Given the description of an element on the screen output the (x, y) to click on. 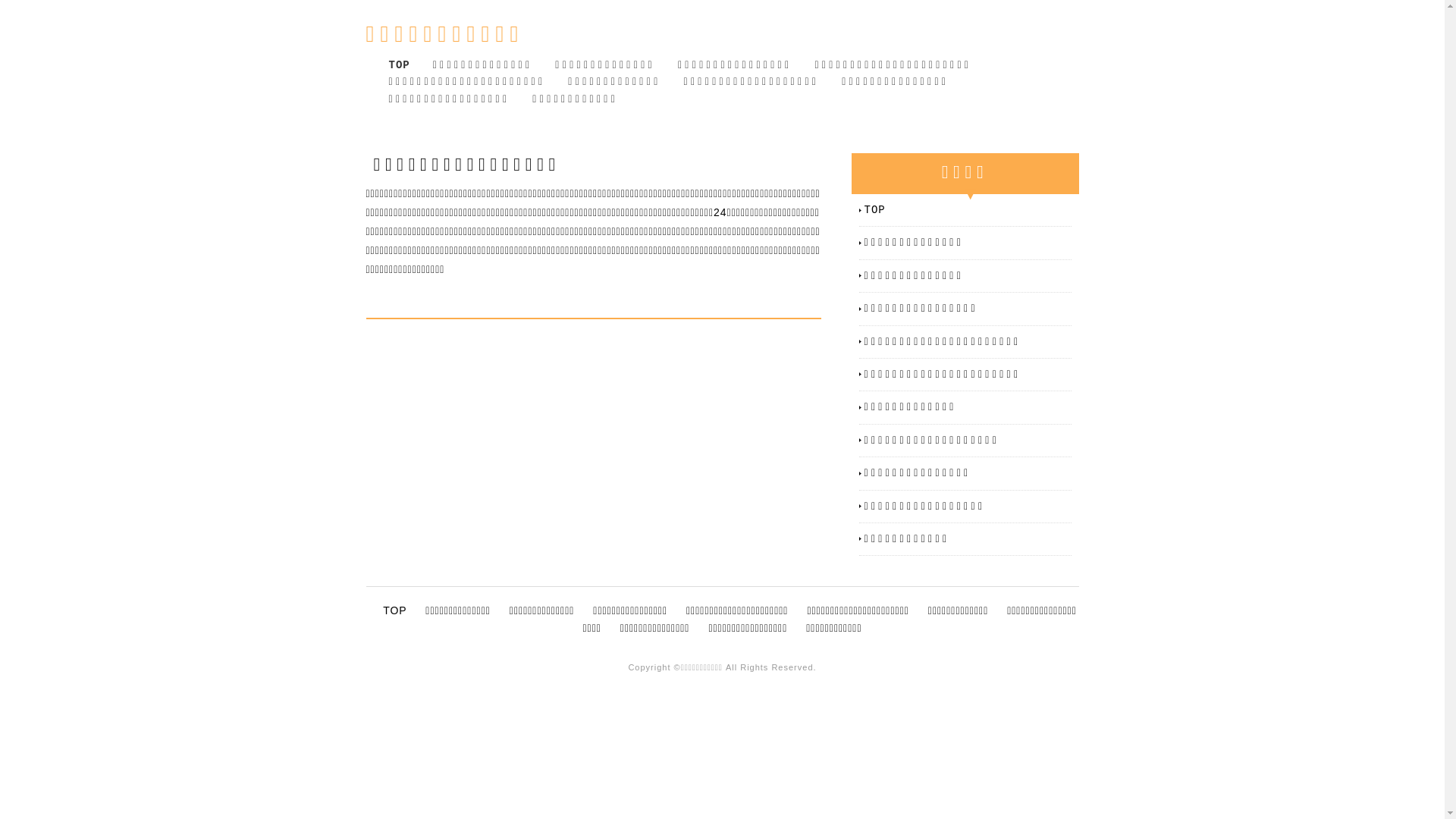
TOP Element type: text (398, 64)
TOP Element type: text (394, 610)
TOP Element type: text (967, 209)
